Given the description of an element on the screen output the (x, y) to click on. 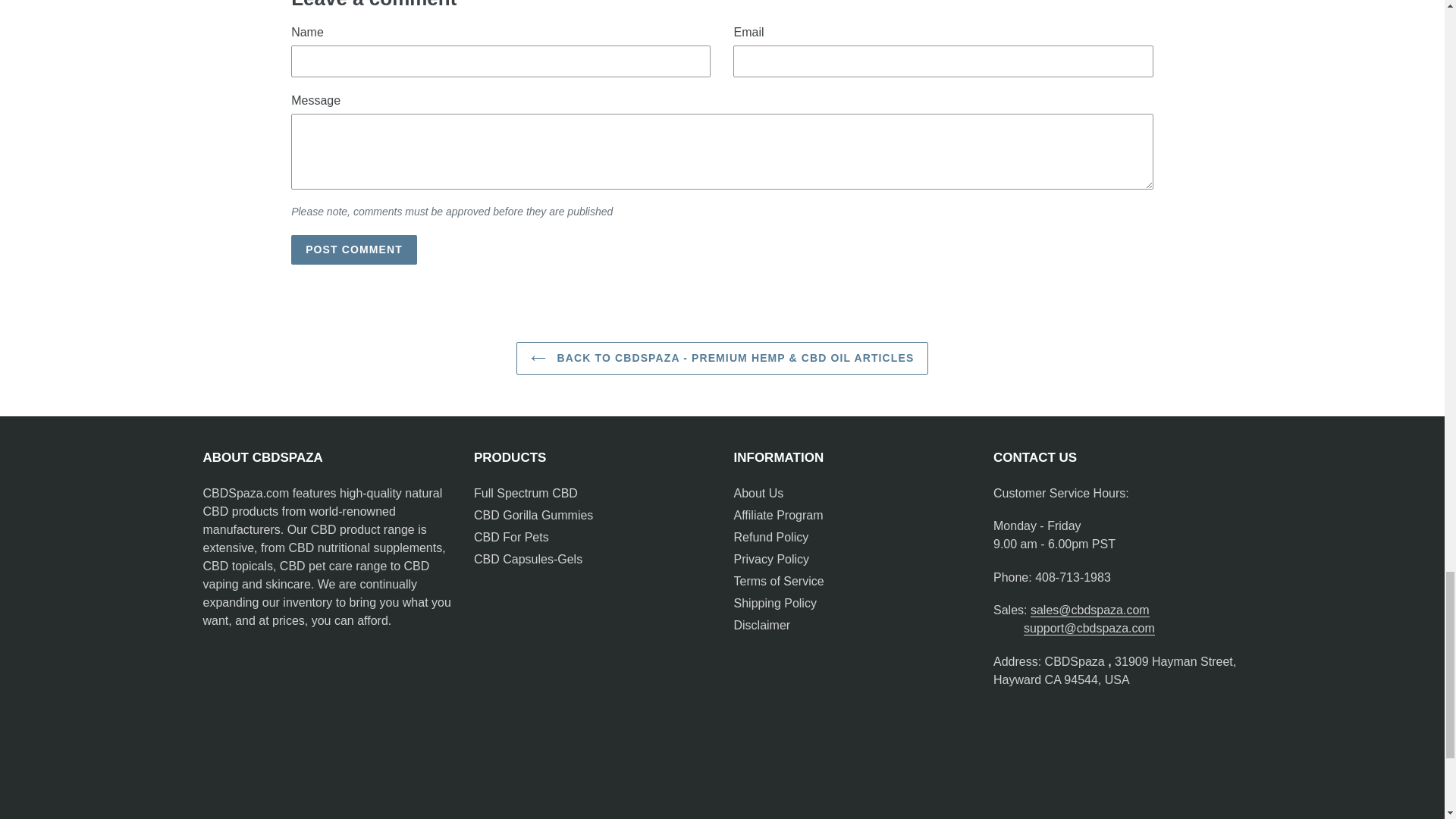
Post comment (353, 249)
